Given the description of an element on the screen output the (x, y) to click on. 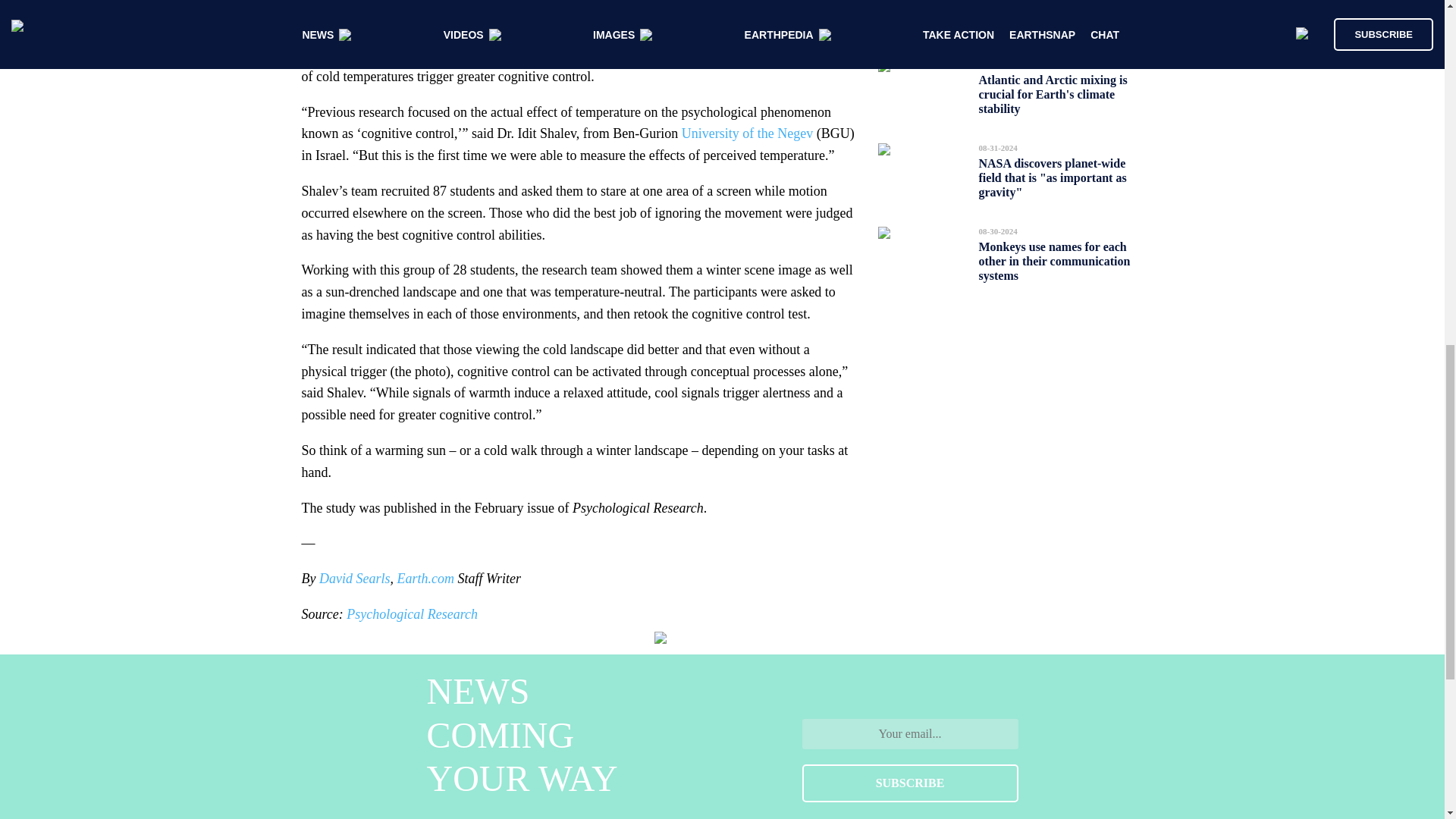
Earth.com (423, 578)
How climate change is buzzing off bumblebee senses (1057, 12)
SUBSCRIBE (909, 783)
David Searls (354, 578)
University of the Negev (746, 133)
Psychological Research (410, 613)
